Given the description of an element on the screen output the (x, y) to click on. 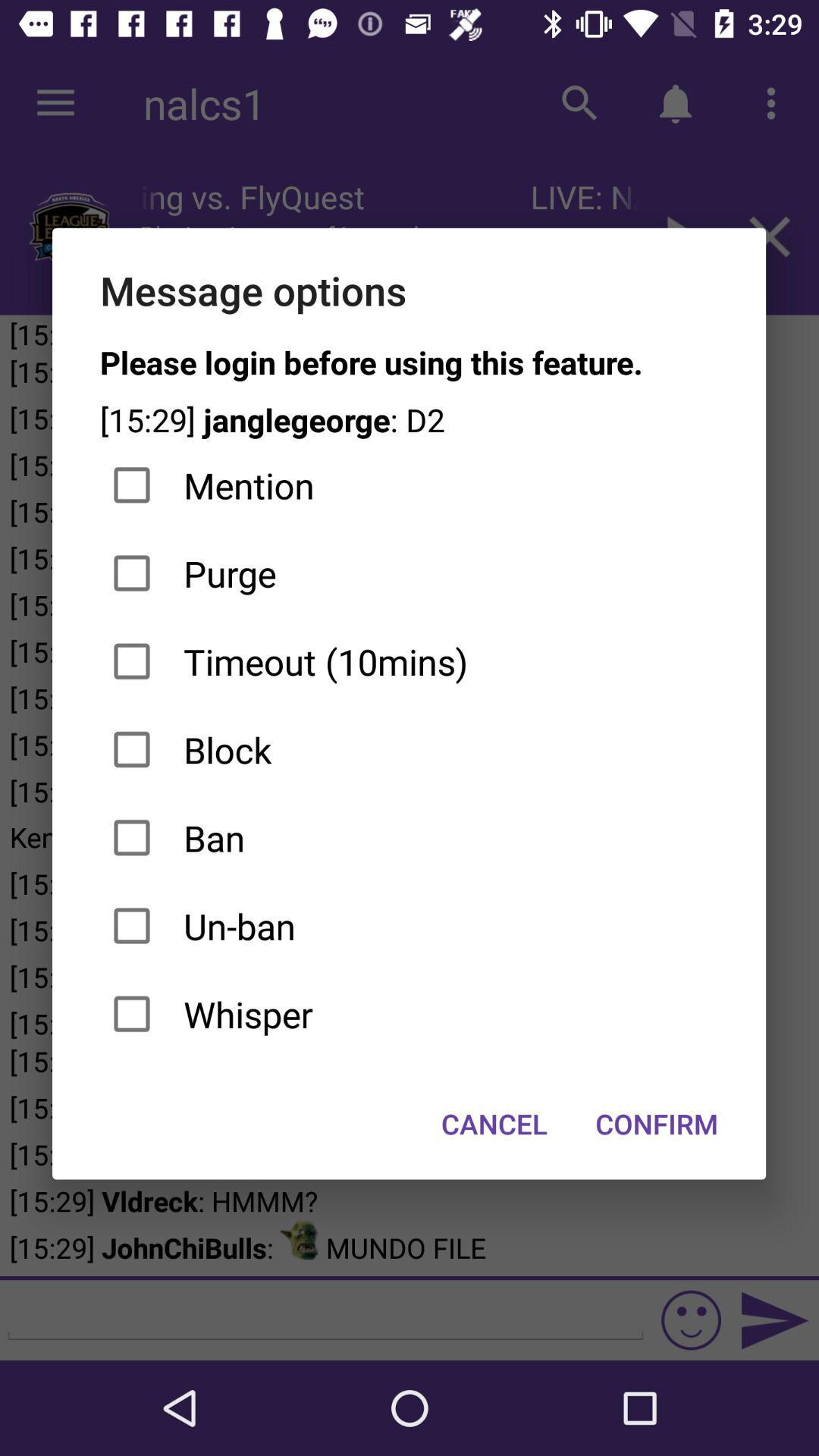
open the icon below ban checkbox (409, 926)
